Given the description of an element on the screen output the (x, y) to click on. 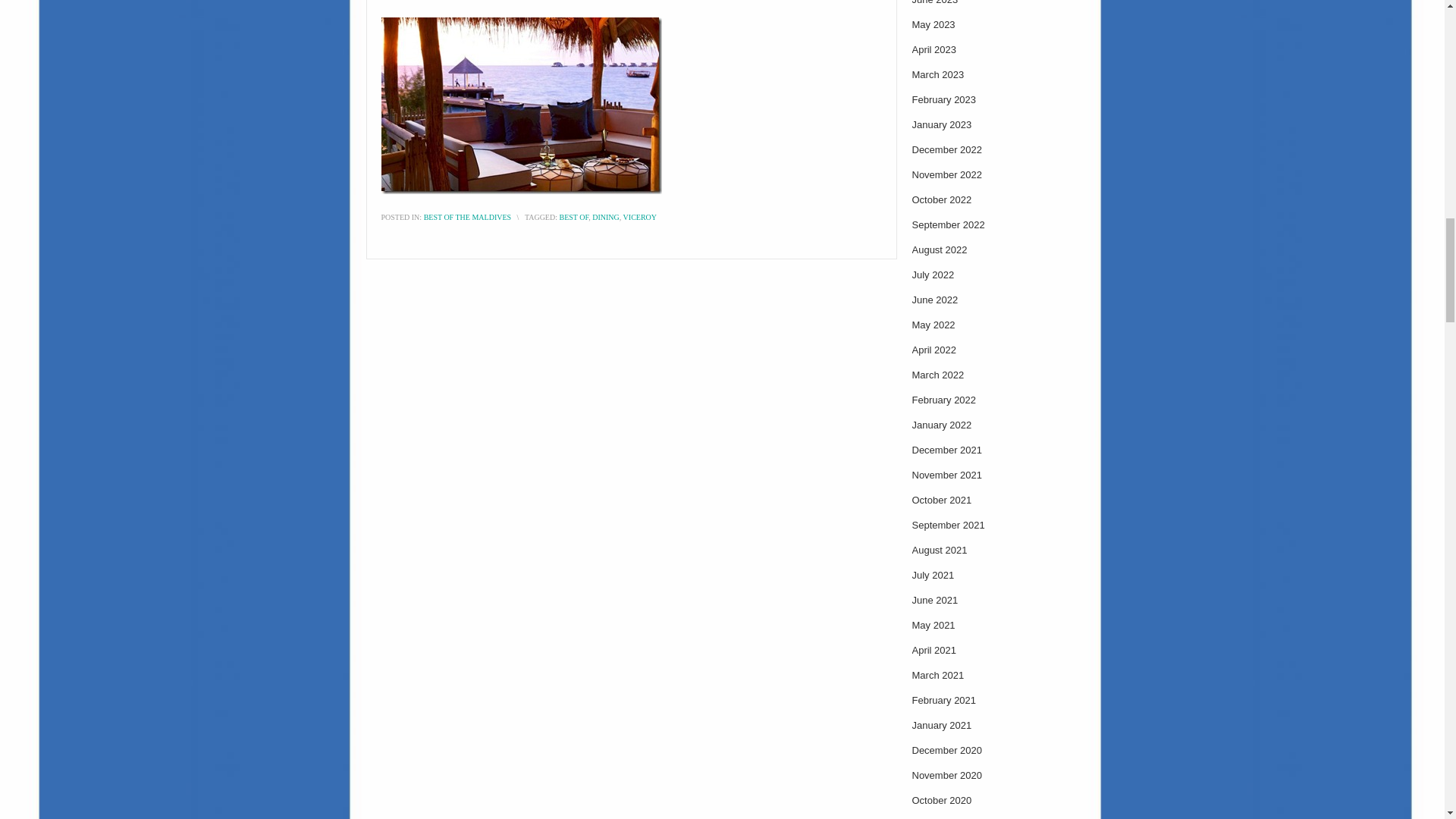
Viceroy Treehouse perspective (520, 105)
BEST OF THE MALDIVES (467, 216)
VICEROY (639, 216)
DINING (606, 216)
BEST OF (573, 216)
